Given the description of an element on the screen output the (x, y) to click on. 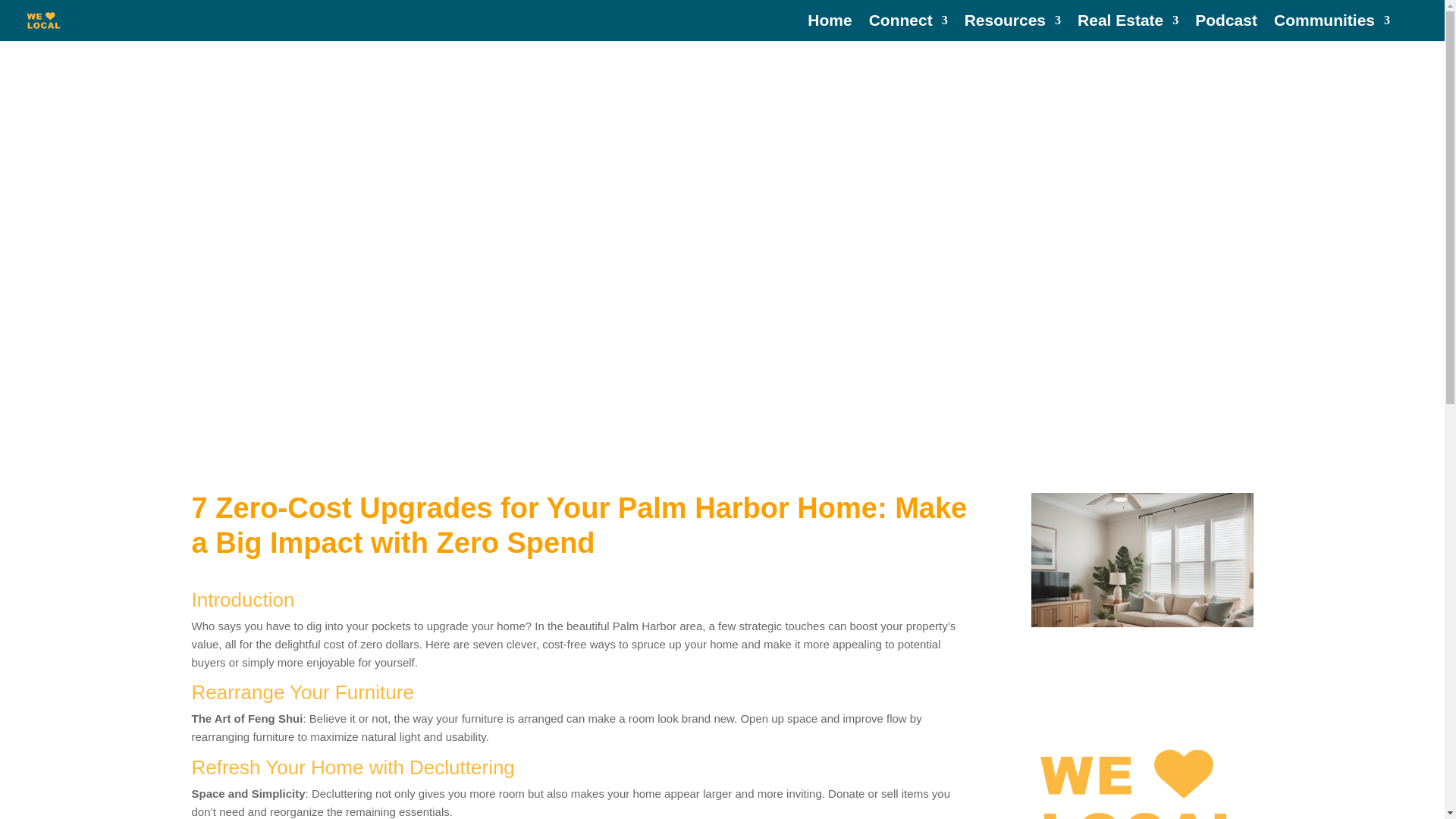
Home (829, 27)
09c443f0-1a36-476b-9b67-df9f912e088e (1141, 603)
Connect (908, 27)
Communities (1332, 27)
Resources (1012, 27)
Real Estate (1127, 27)
Podcast (1226, 27)
